Given the description of an element on the screen output the (x, y) to click on. 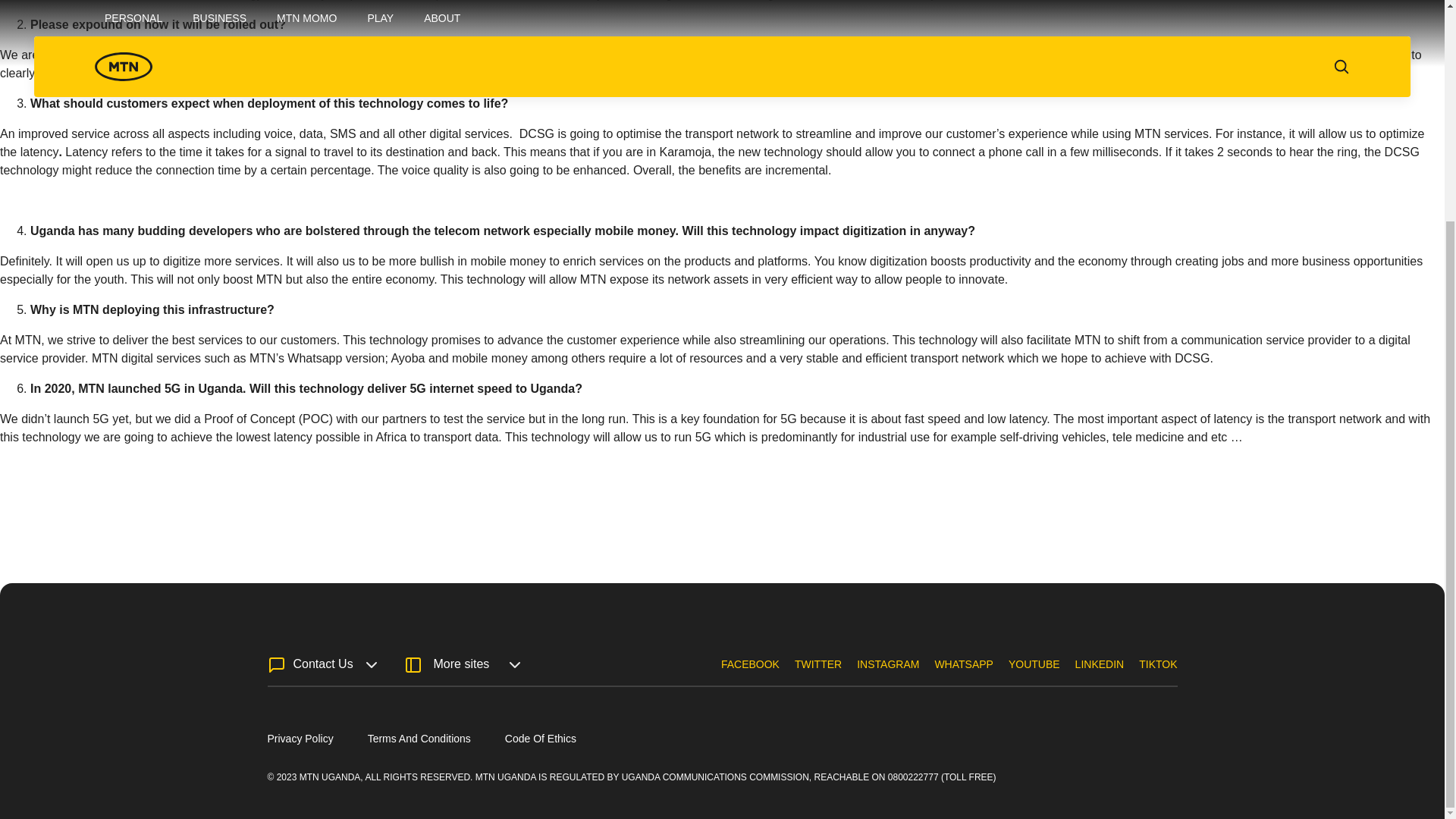
Contact Us (320, 664)
Code Of Ethics (540, 738)
TWITTER (817, 673)
More sites (460, 664)
INSTAGRAM (887, 673)
Privacy Policy (299, 738)
WHATSAPP (963, 673)
TIKTOK (1157, 673)
YOUTUBE (1034, 673)
Terms And Conditions (419, 738)
